Given the description of an element on the screen output the (x, y) to click on. 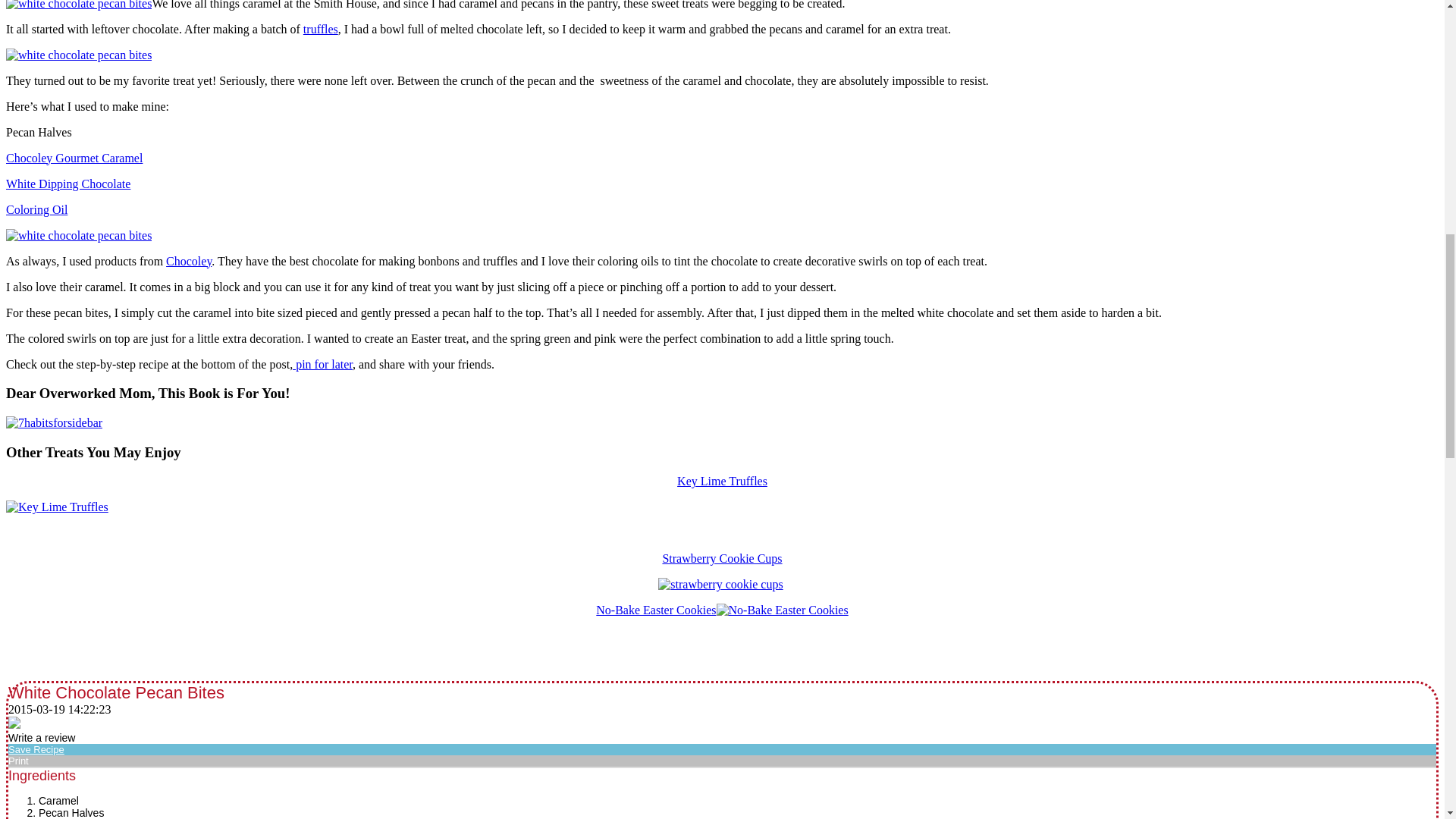
Chocoley (188, 260)
pin for later (322, 364)
Coloring Oil (35, 209)
Chocoley Gourmet Caramel (73, 157)
truffles (319, 29)
White Dipping Chocolate (68, 183)
